Given the description of an element on the screen output the (x, y) to click on. 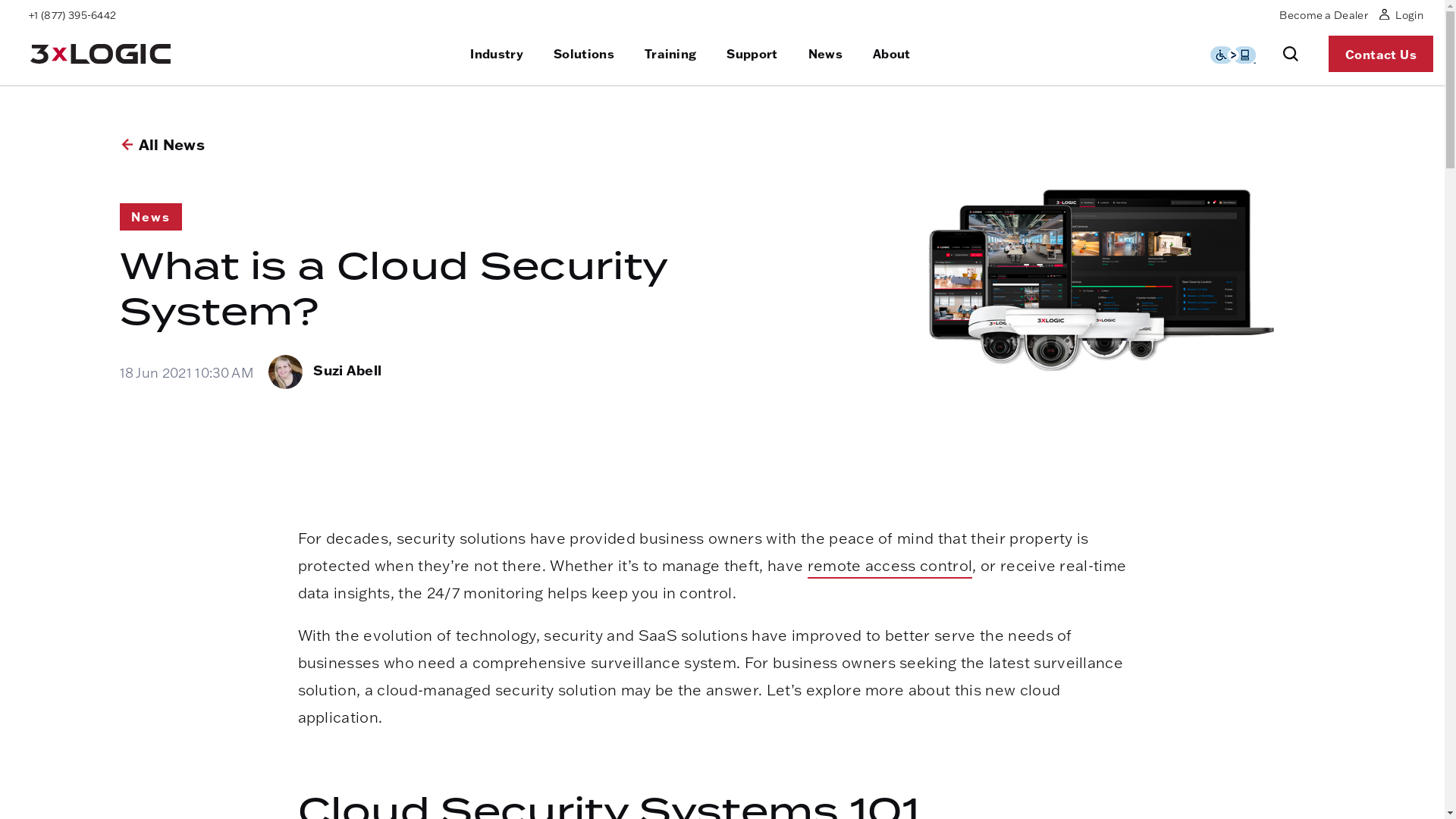
Industry Element type: text (496, 53)
remote access control Element type: text (889, 566)
News Element type: text (150, 216)
News Element type: text (825, 53)
Login Element type: text (1401, 11)
All News Element type: text (171, 143)
+1 (877) 395-6442 Element type: text (72, 14)
Contact Us Element type: text (1380, 53)
Become a Dealer Element type: text (1323, 14)
Skip to main content Element type: text (0, 0)
Training Element type: text (670, 53)
